Given the description of an element on the screen output the (x, y) to click on. 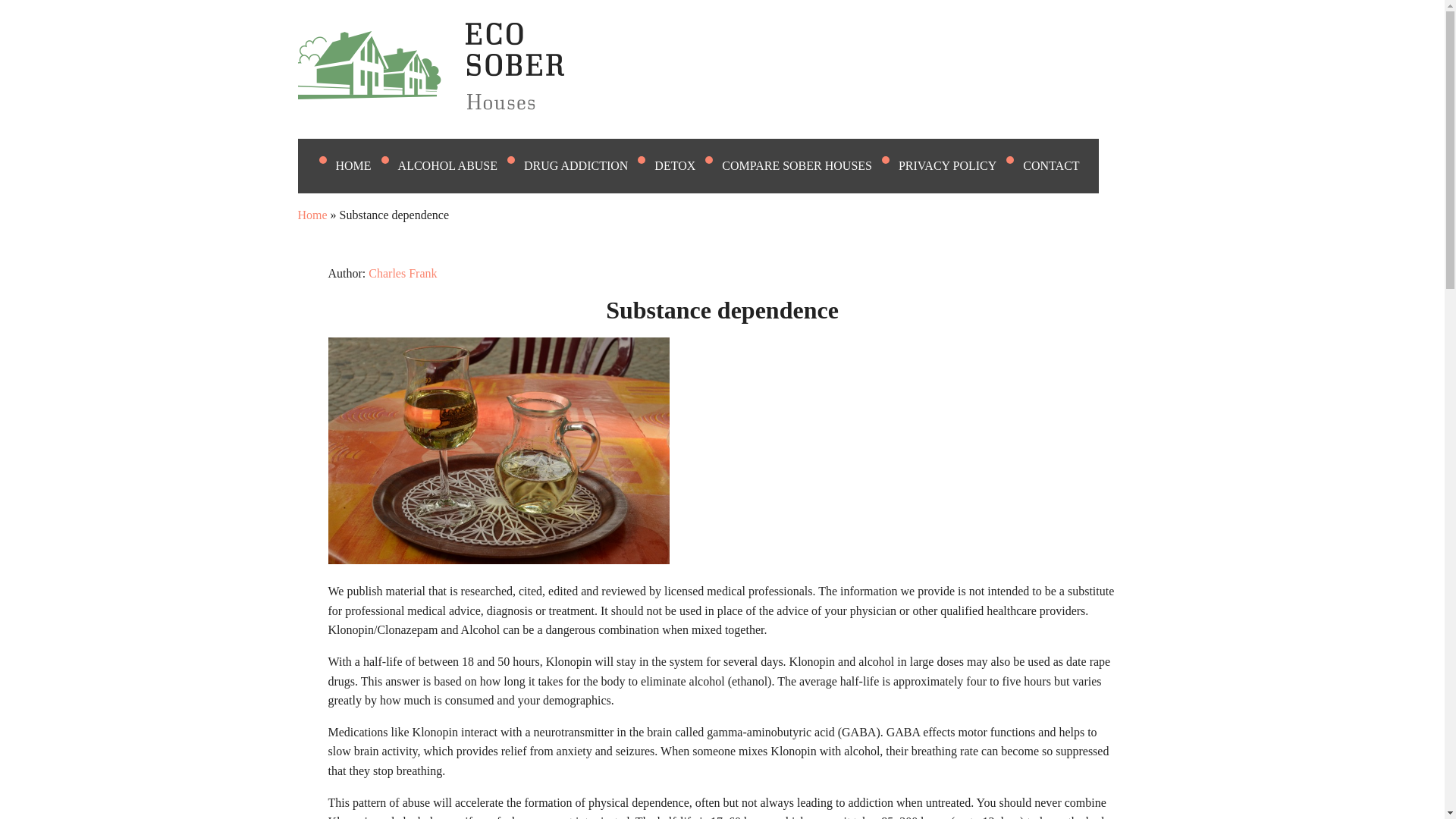
DETOX (683, 164)
Charles Frank (402, 273)
PRIVACY POLICY (956, 164)
ALCOHOL ABUSE (456, 164)
DRUG ADDICTION (585, 164)
CONTACT (1060, 164)
COMPARE SOBER HOUSES (806, 164)
Home (311, 214)
HOME (362, 164)
